Given the description of an element on the screen output the (x, y) to click on. 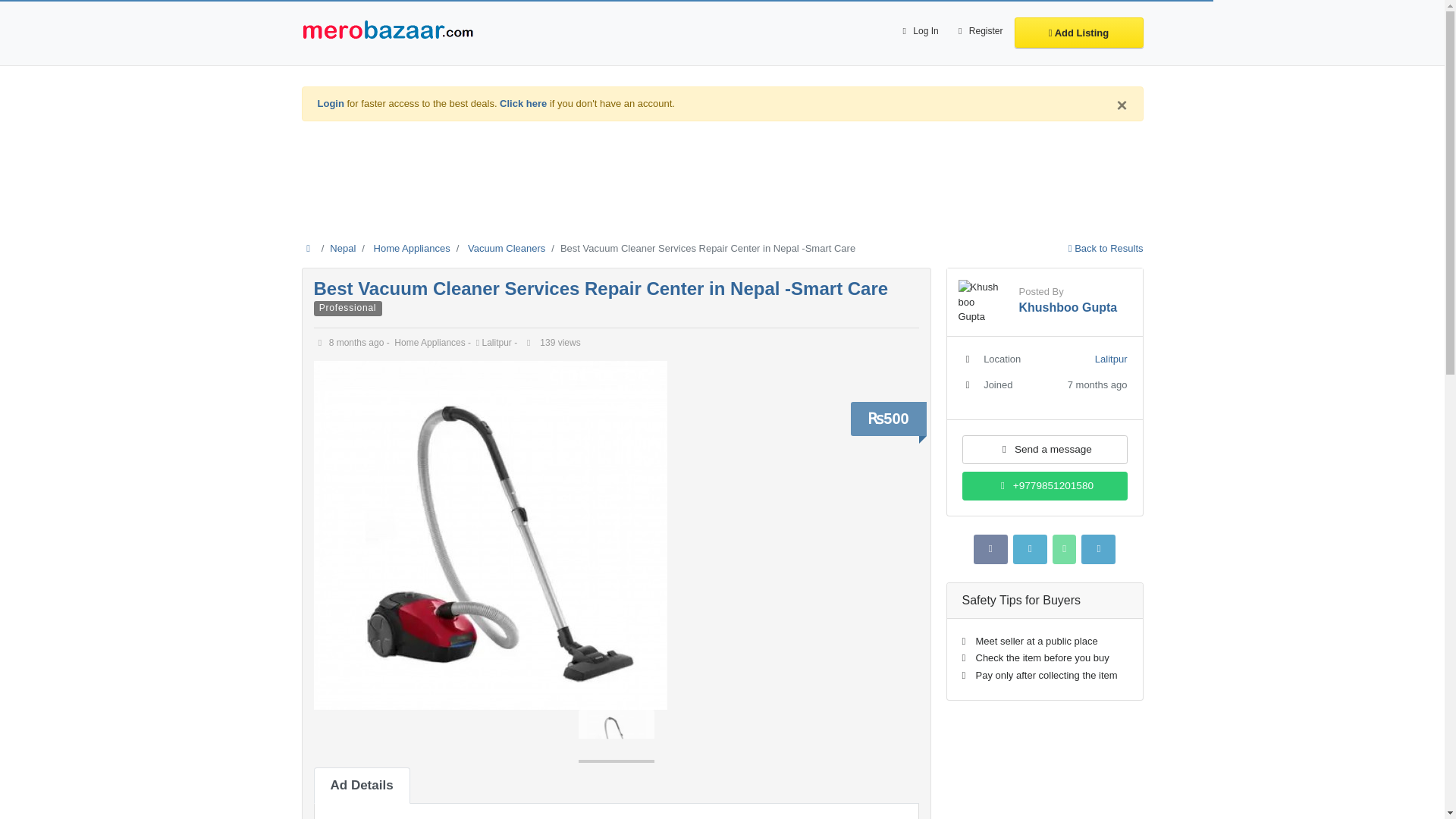
Register (978, 32)
Vacuum Cleaners (505, 247)
Nepal (342, 247)
Click here (523, 102)
Add Listing (1078, 32)
Ad Details (362, 785)
Home Appliances (411, 247)
Log In (916, 32)
Lalitpur (422, 818)
